Given the description of an element on the screen output the (x, y) to click on. 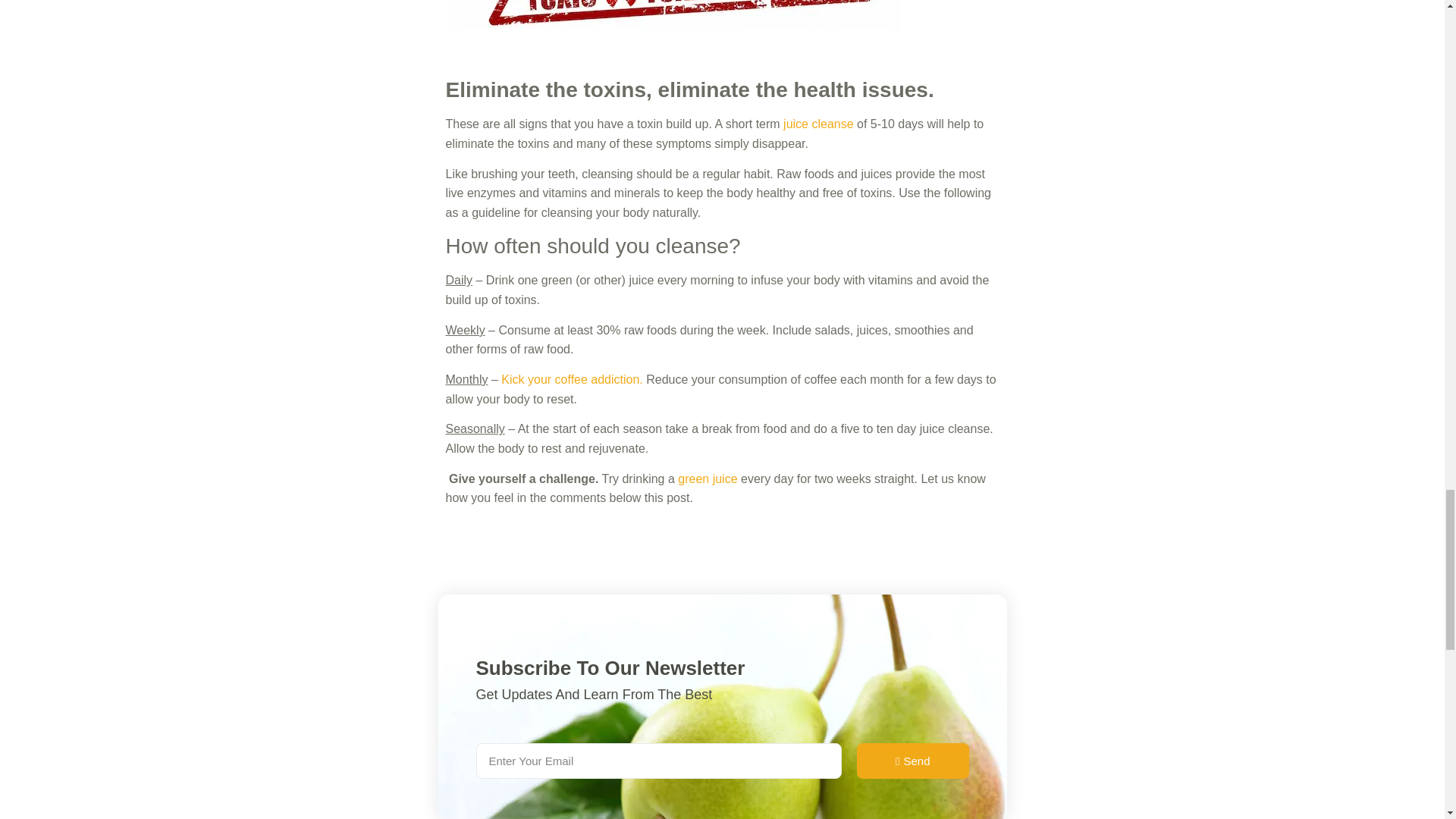
Kick your coffee addiction. (571, 379)
Send (913, 760)
juice cleanse (818, 123)
green juice (707, 478)
